Given the description of an element on the screen output the (x, y) to click on. 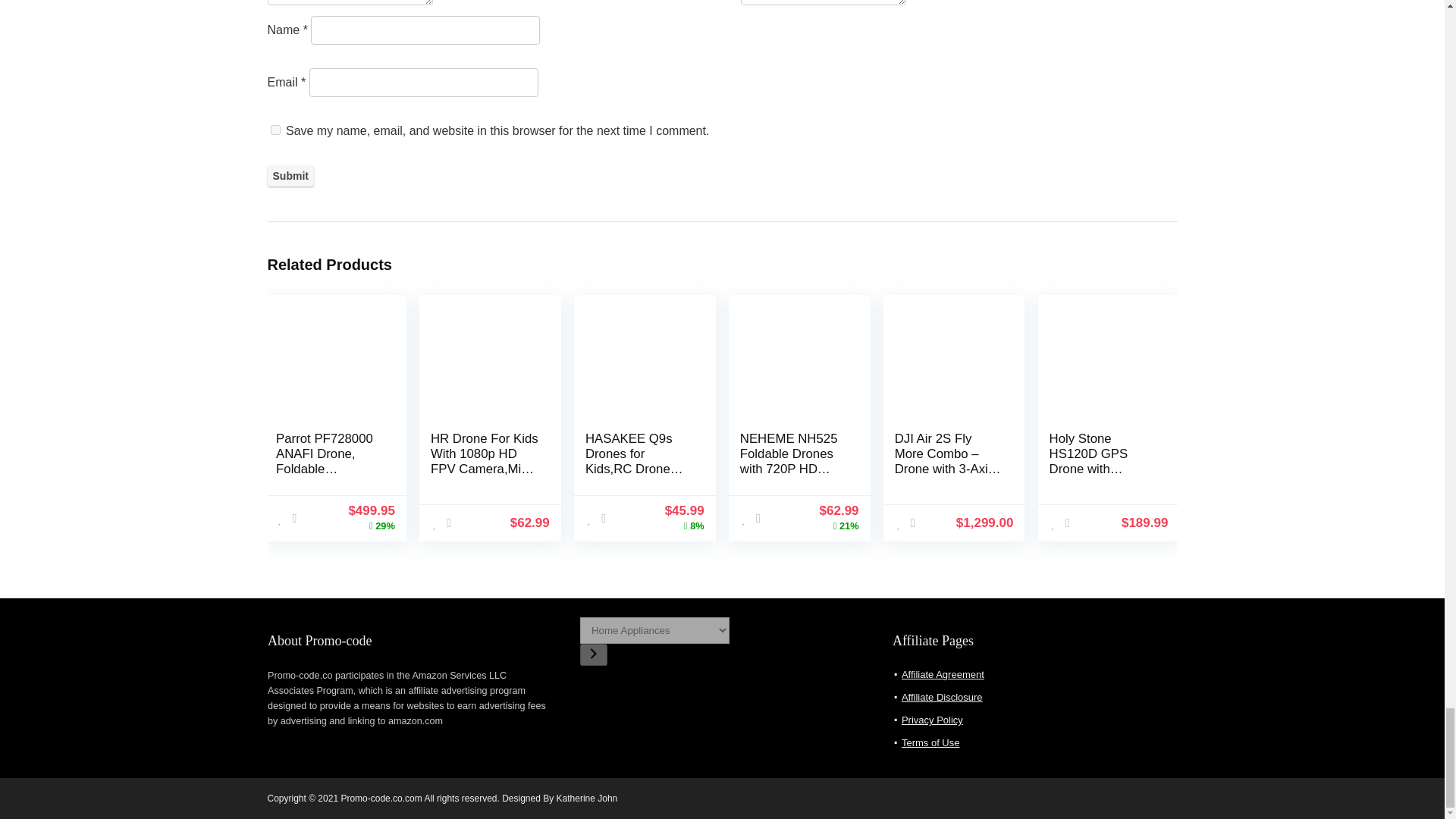
Submit (289, 175)
yes (274, 130)
